Given the description of an element on the screen output the (x, y) to click on. 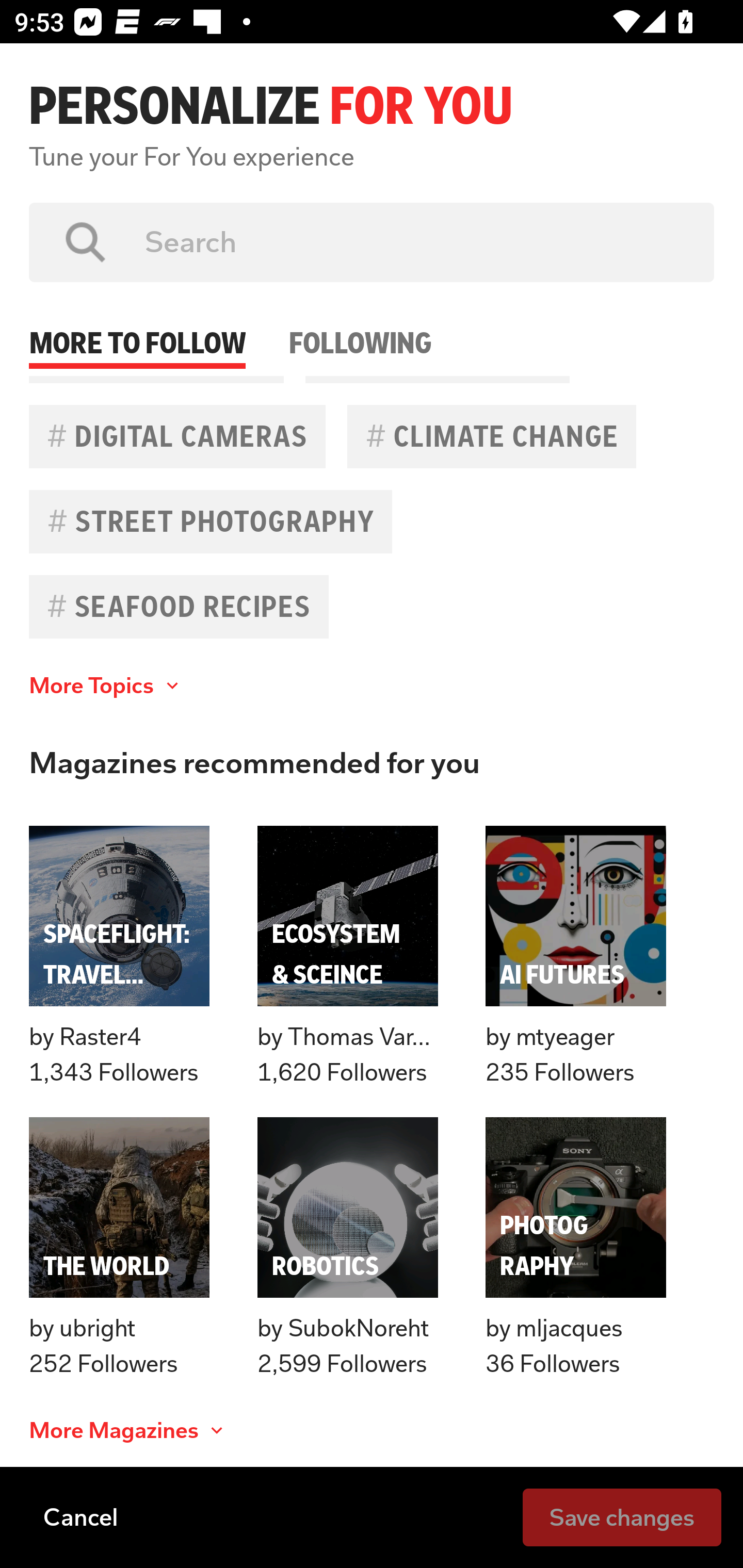
Search (414, 242)
Following FOLLOWING (360, 325)
# DIGITAL CAMERAS (176, 436)
# CLIMATE CHANGE (491, 436)
# STREET PHOTOGRAPHY (210, 521)
# SEAFOOD RECIPES (178, 606)
More Topics (105, 685)
AI FUTURES by mtyeager 235 Followers (575, 956)
THE WORLD by ubright 252 Followers (118, 1247)
ROBOTICS by SubokNoreht 2,599 Followers (347, 1247)
PHOTOGRAPHY by mljacques 36 Followers (575, 1247)
More Magazines (127, 1430)
Cancel (80, 1516)
Save changes (621, 1517)
